Given the description of an element on the screen output the (x, y) to click on. 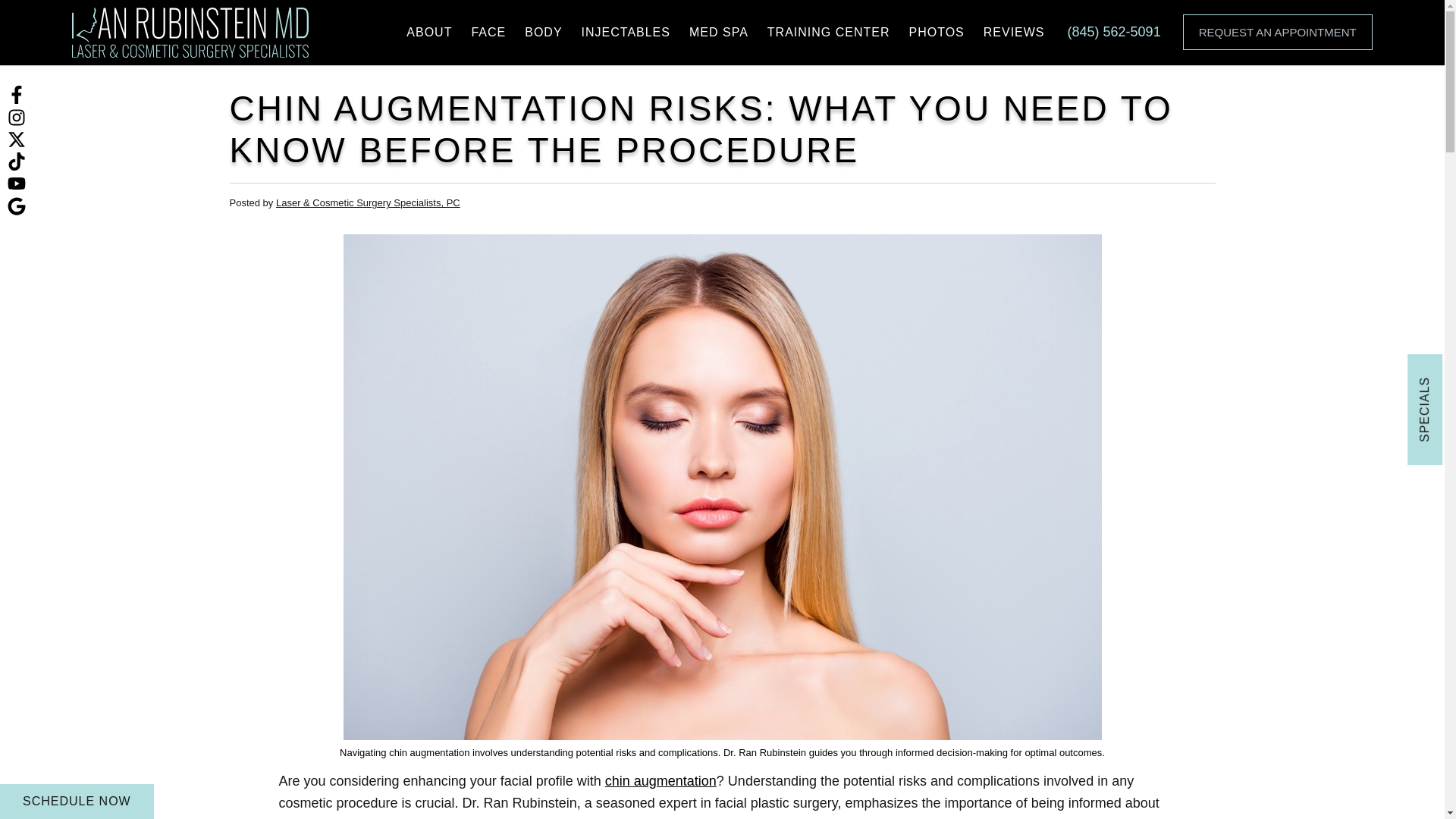
ABOUT (428, 32)
SCHEDULE NOW (77, 801)
Facebook (16, 93)
Instagram (16, 115)
TikTok (16, 160)
Twitter (16, 137)
Ask for reviews (16, 204)
